Given the description of an element on the screen output the (x, y) to click on. 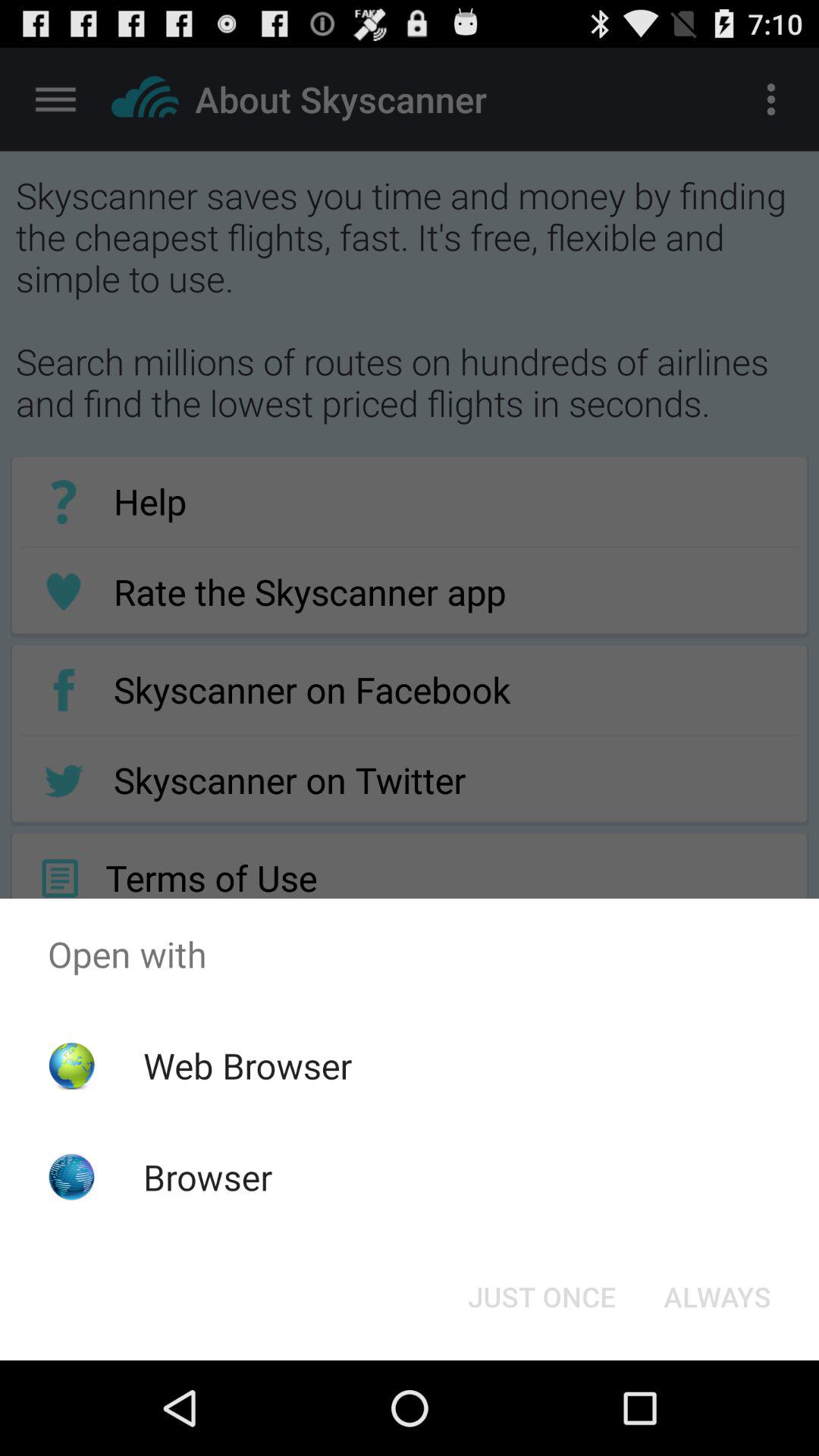
select the button next to just once item (717, 1296)
